Given the description of an element on the screen output the (x, y) to click on. 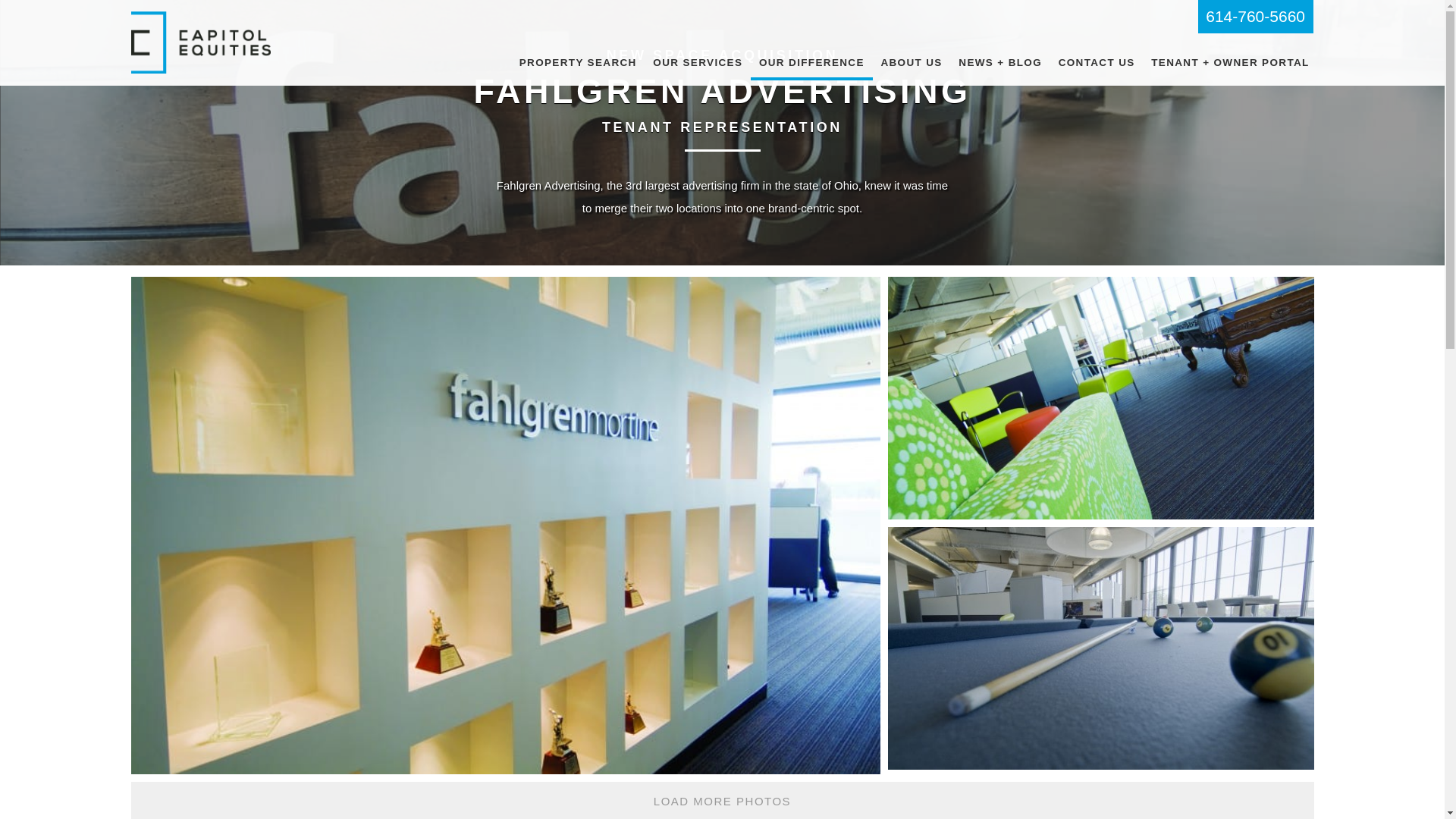
CONTACT US (1095, 64)
Capitol Equities (200, 42)
ABOUT US (911, 64)
OUR SERVICES (698, 64)
OUR DIFFERENCE (811, 64)
PROPERTY SEARCH (578, 64)
